Given the description of an element on the screen output the (x, y) to click on. 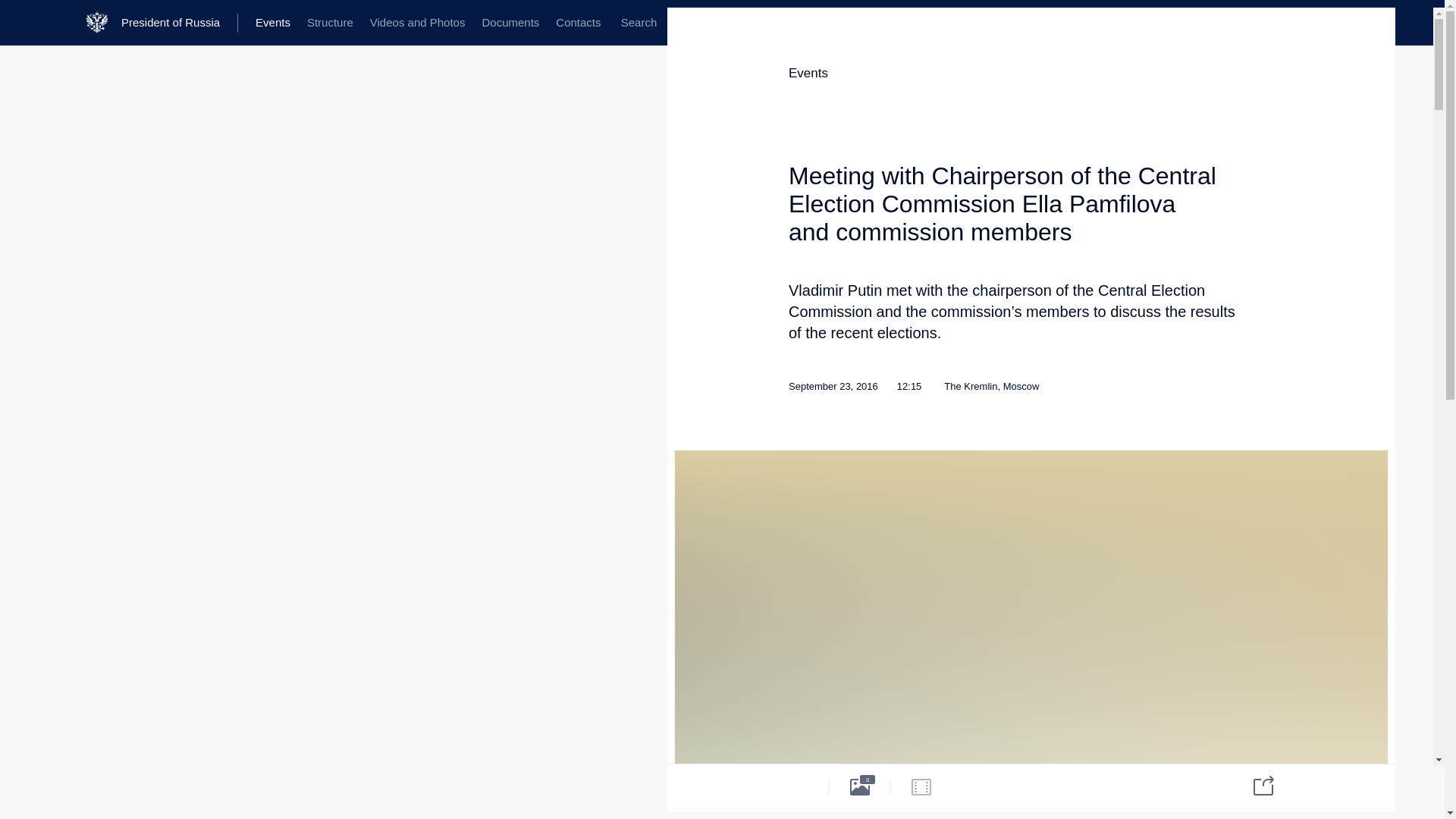
Events (272, 22)
President of Russia (179, 22)
Portal Menu (24, 22)
Structure (329, 22)
Photo (859, 786)
Videos and Photos (417, 22)
Global website search (638, 22)
Share (1253, 784)
Contacts (577, 22)
Video (921, 786)
Events (808, 73)
Documents (510, 22)
Search (638, 22)
Text (798, 786)
